Given the description of an element on the screen output the (x, y) to click on. 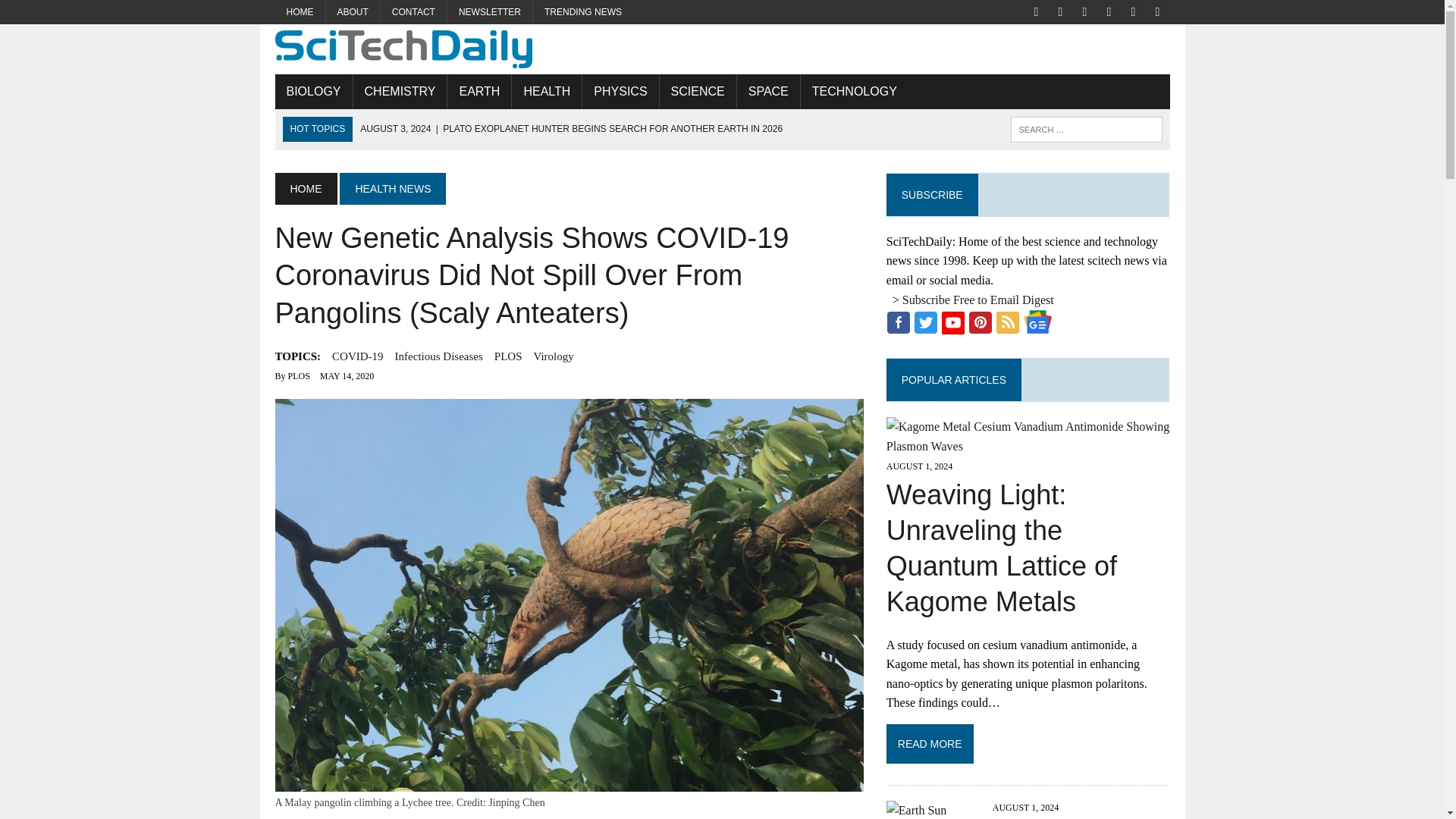
NEWSLETTER (489, 12)
TRENDING NEWS (582, 12)
COVID-19 (357, 356)
CHEMISTRY (399, 91)
SPACE (767, 91)
HEALTH NEWS (392, 188)
PHYSICS (620, 91)
Virology (552, 356)
About SciTechDaily (353, 12)
SciTechDaily Newsletter (489, 12)
